Given the description of an element on the screen output the (x, y) to click on. 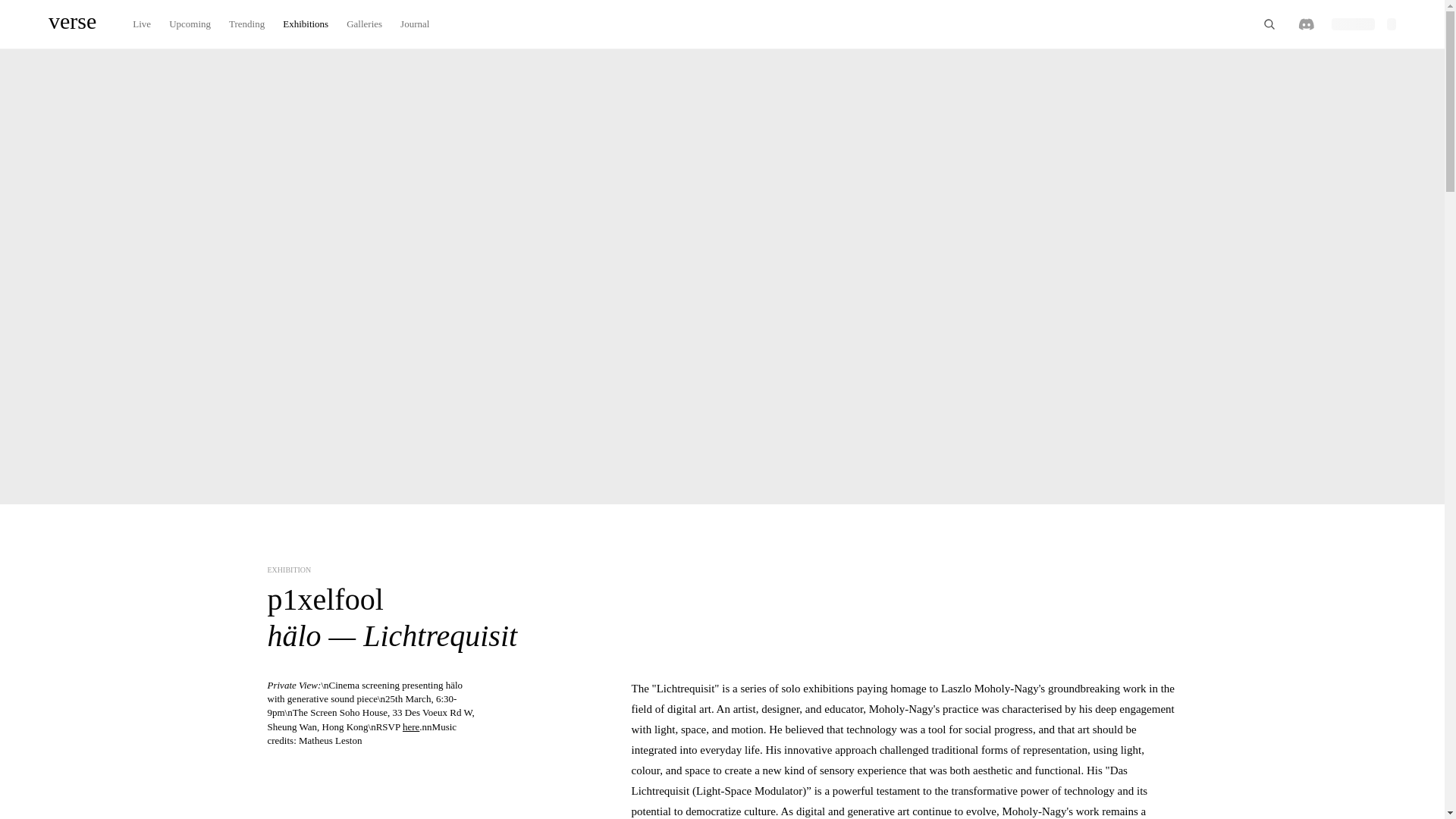
Exhibitions (305, 24)
here (411, 726)
verse (72, 24)
